Given the description of an element on the screen output the (x, y) to click on. 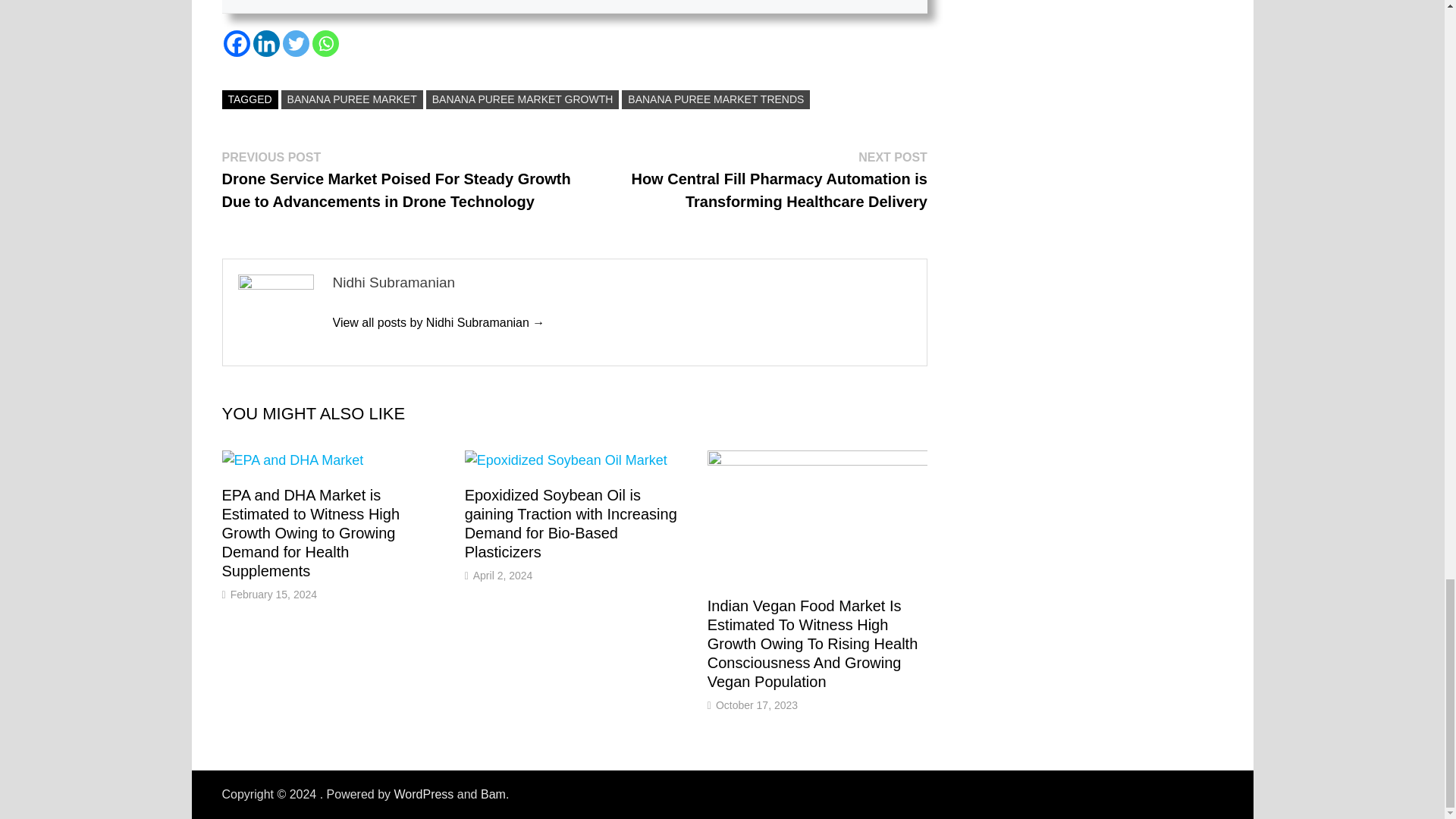
Facebook (235, 43)
Whatsapp (326, 43)
Nidhi Subramanian (437, 322)
Twitter (295, 43)
Linkedin (266, 43)
